Given the description of an element on the screen output the (x, y) to click on. 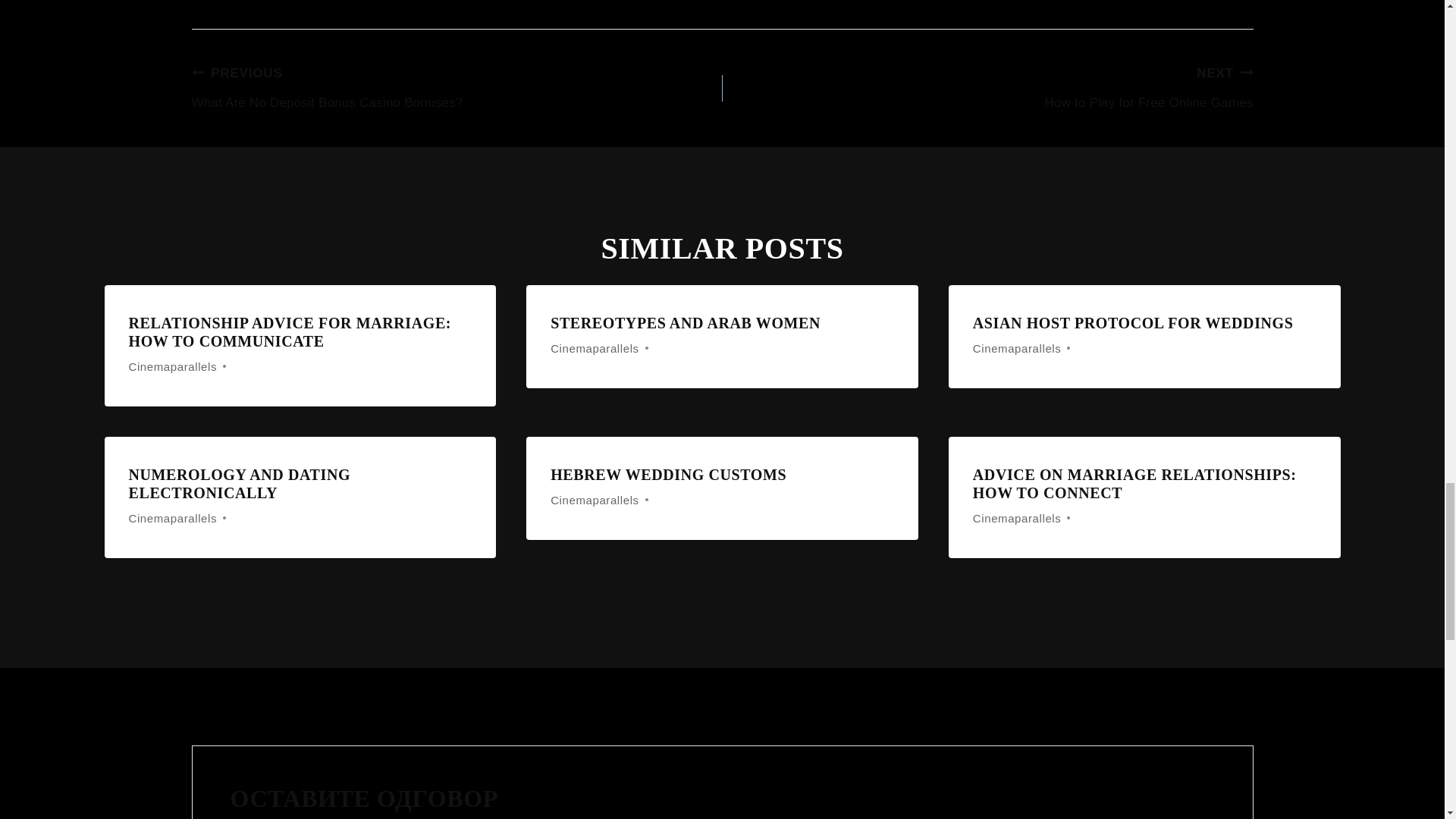
HEBREW WEDDING CUSTOMS (668, 474)
ASIAN HOST PROTOCOL FOR WEDDINGS (456, 88)
RELATIONSHIP ADVICE FOR MARRIAGE: HOW TO COMMUNICATE (987, 88)
NUMEROLOGY AND DATING ELECTRONICALLY (1133, 322)
ADVICE ON MARRIAGE RELATIONSHIPS: HOW TO CONNECT (290, 331)
STEREOTYPES AND ARAB WOMEN (239, 483)
